Given the description of an element on the screen output the (x, y) to click on. 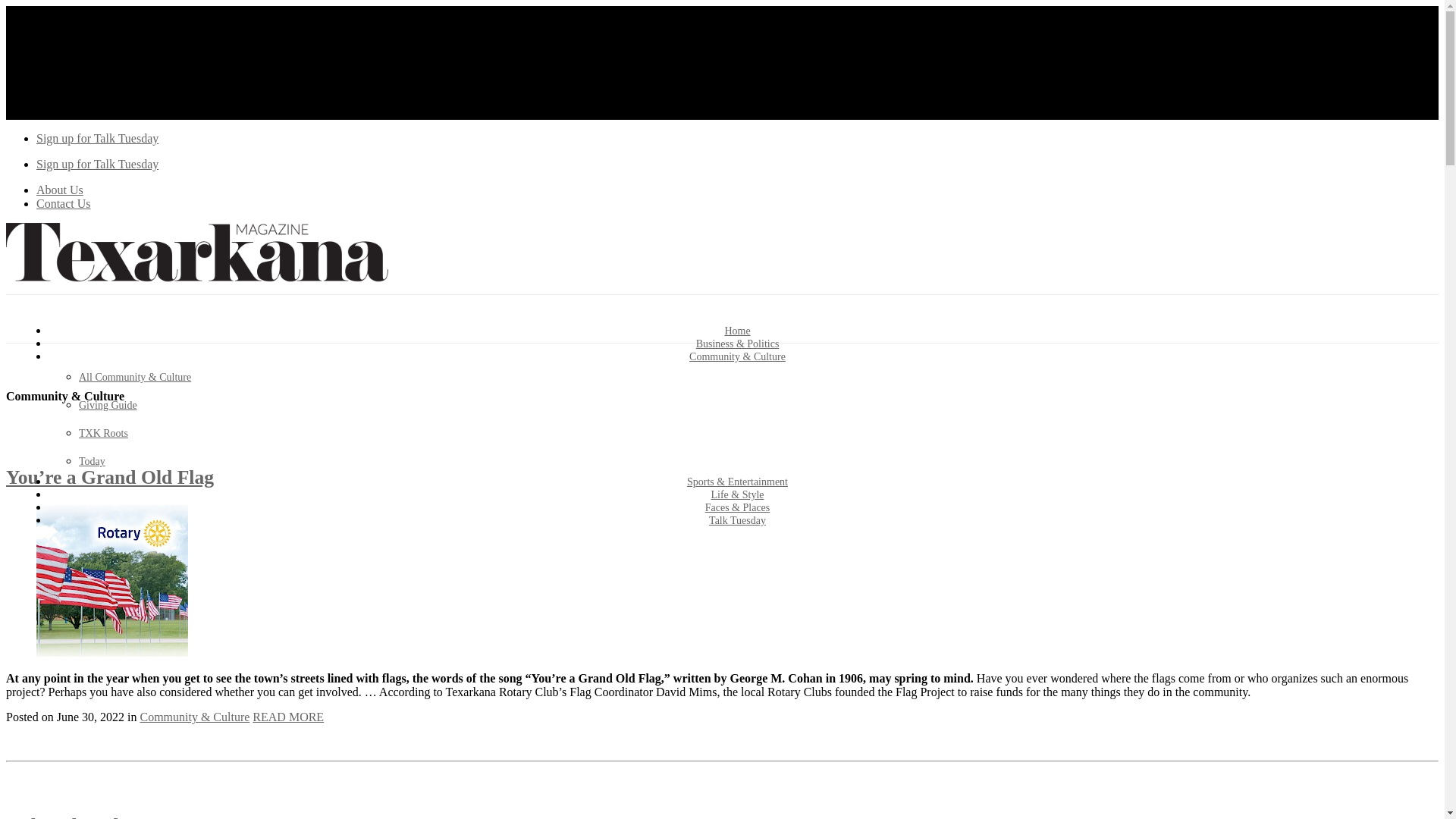
Subscribe (97, 137)
Read More (287, 716)
Subscribe (97, 164)
Giving Guide (107, 405)
READ MORE (287, 716)
Today (91, 460)
Logo (196, 286)
Contact Us (63, 203)
Talk Tuesday (737, 520)
About Us (59, 189)
